Given the description of an element on the screen output the (x, y) to click on. 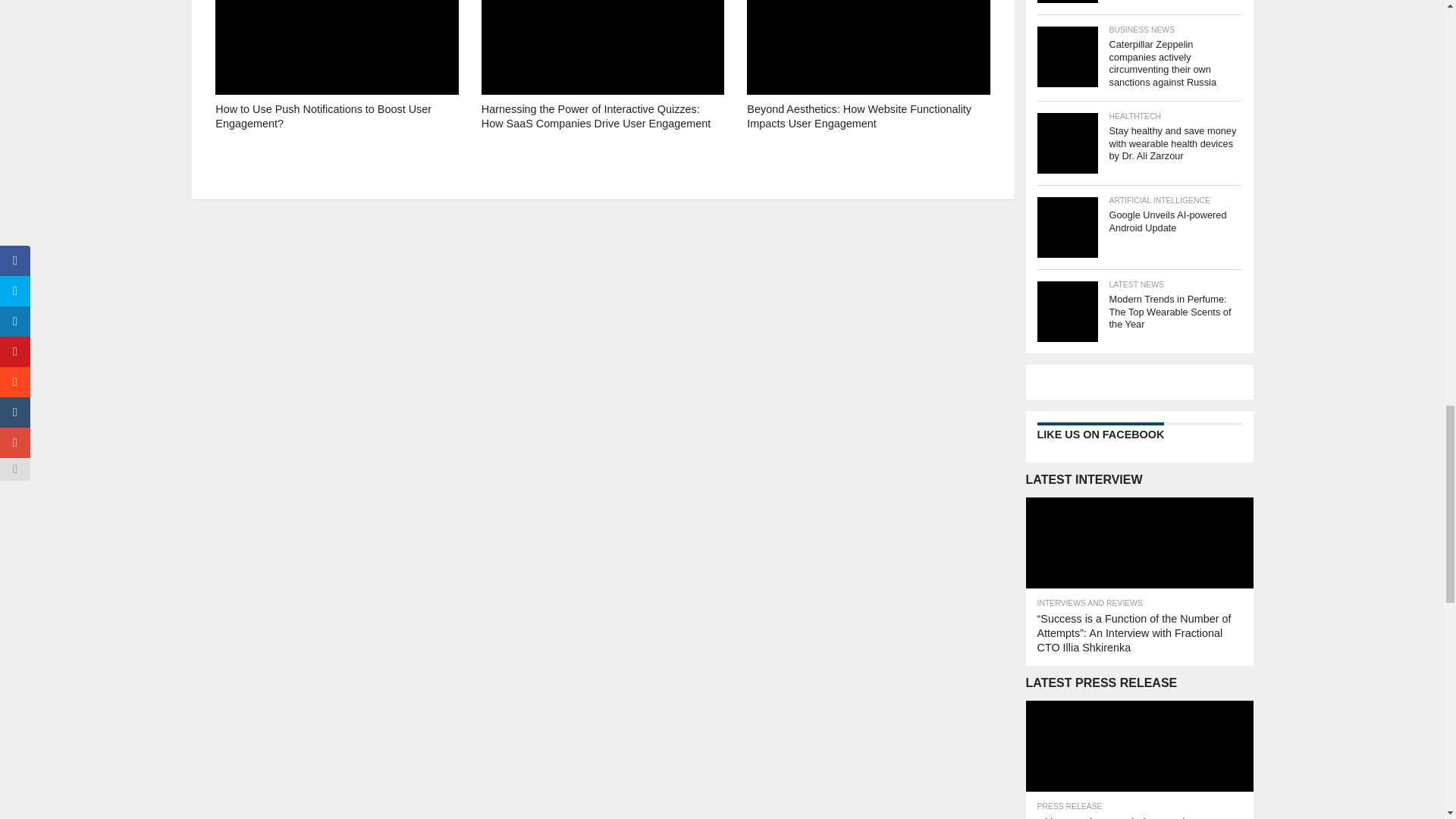
How to Use Push Notifications to Boost User Engagement? (336, 137)
